Given the description of an element on the screen output the (x, y) to click on. 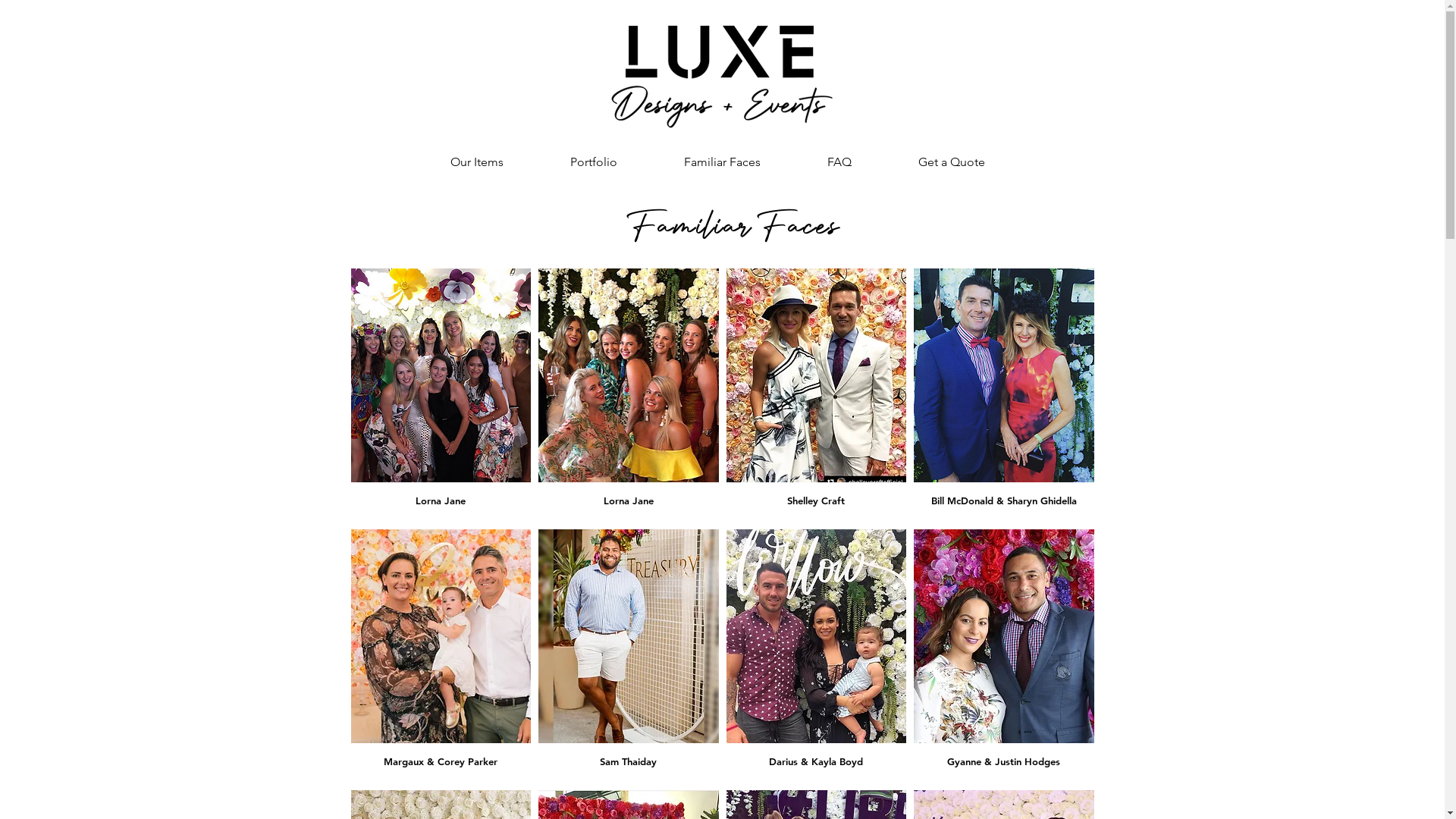
Portfolio Element type: text (593, 161)
Familiar Faces Element type: text (721, 161)
FAQ Element type: text (838, 161)
Our Items Element type: text (476, 161)
Get a Quote Element type: text (950, 161)
0 Element type: text (1005, 514)
